Given the description of an element on the screen output the (x, y) to click on. 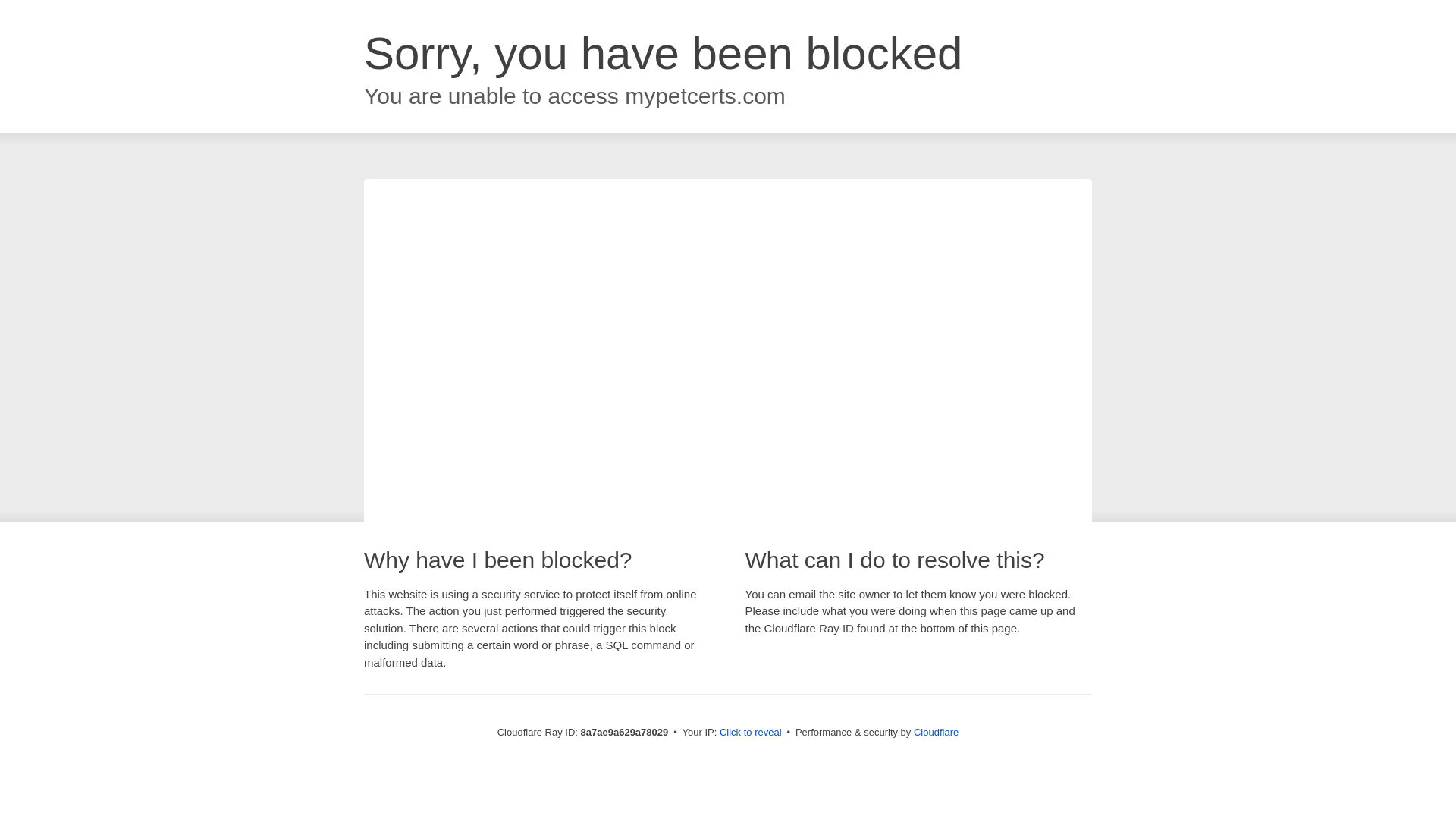
Cloudflare (936, 731)
Click to reveal (750, 732)
